Given the description of an element on the screen output the (x, y) to click on. 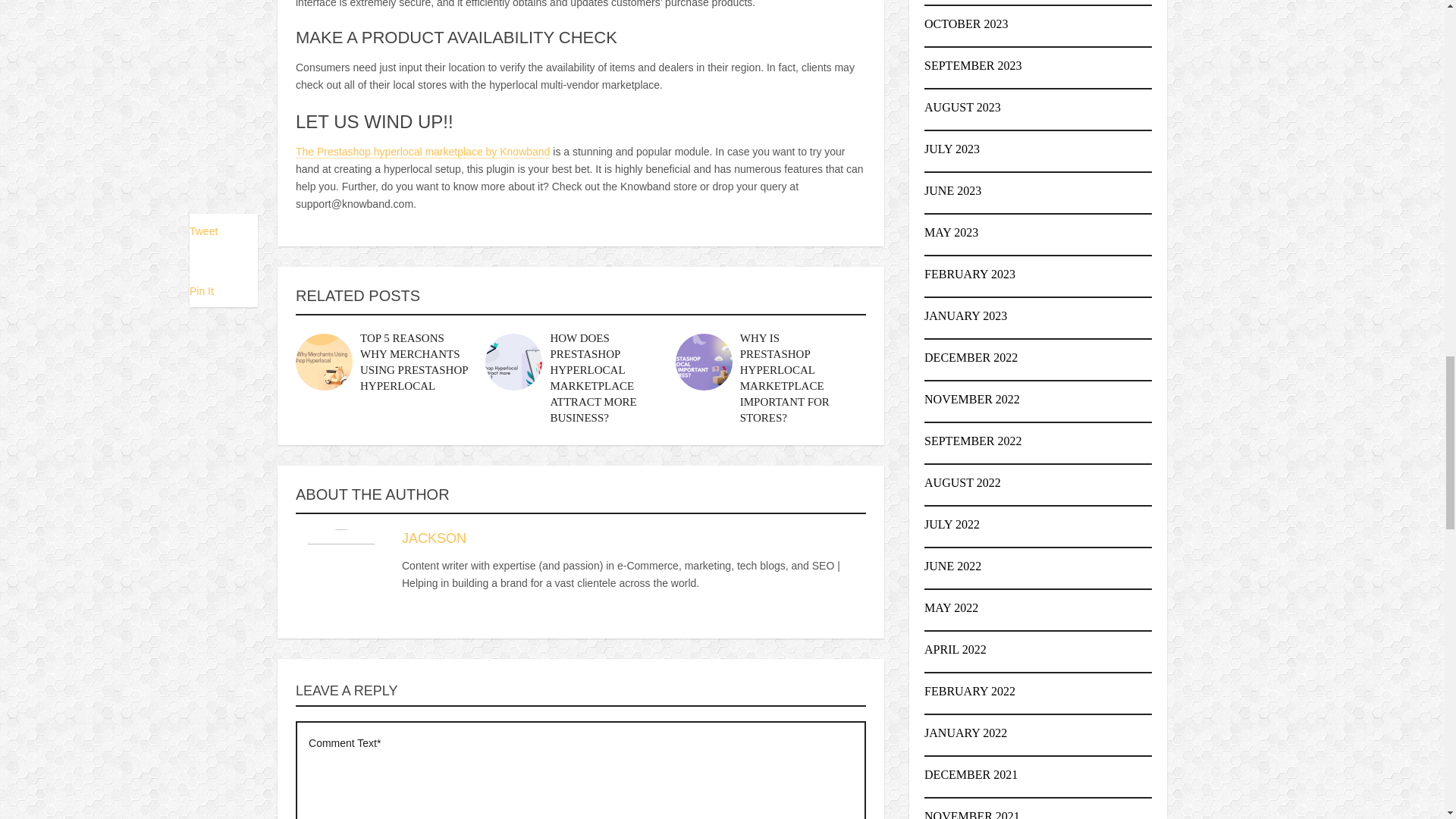
Top 5 reasons why merchants using Prestashop Hyperlocal (323, 361)
JACKSON (433, 538)
TOP 5 REASONS WHY MERCHANTS USING PRESTASHOP HYPERLOCAL (413, 362)
Top 5 reasons why merchants using Prestashop Hyperlocal (413, 362)
The Prestashop hyperlocal marketplace by Knowband (422, 151)
